Given the description of an element on the screen output the (x, y) to click on. 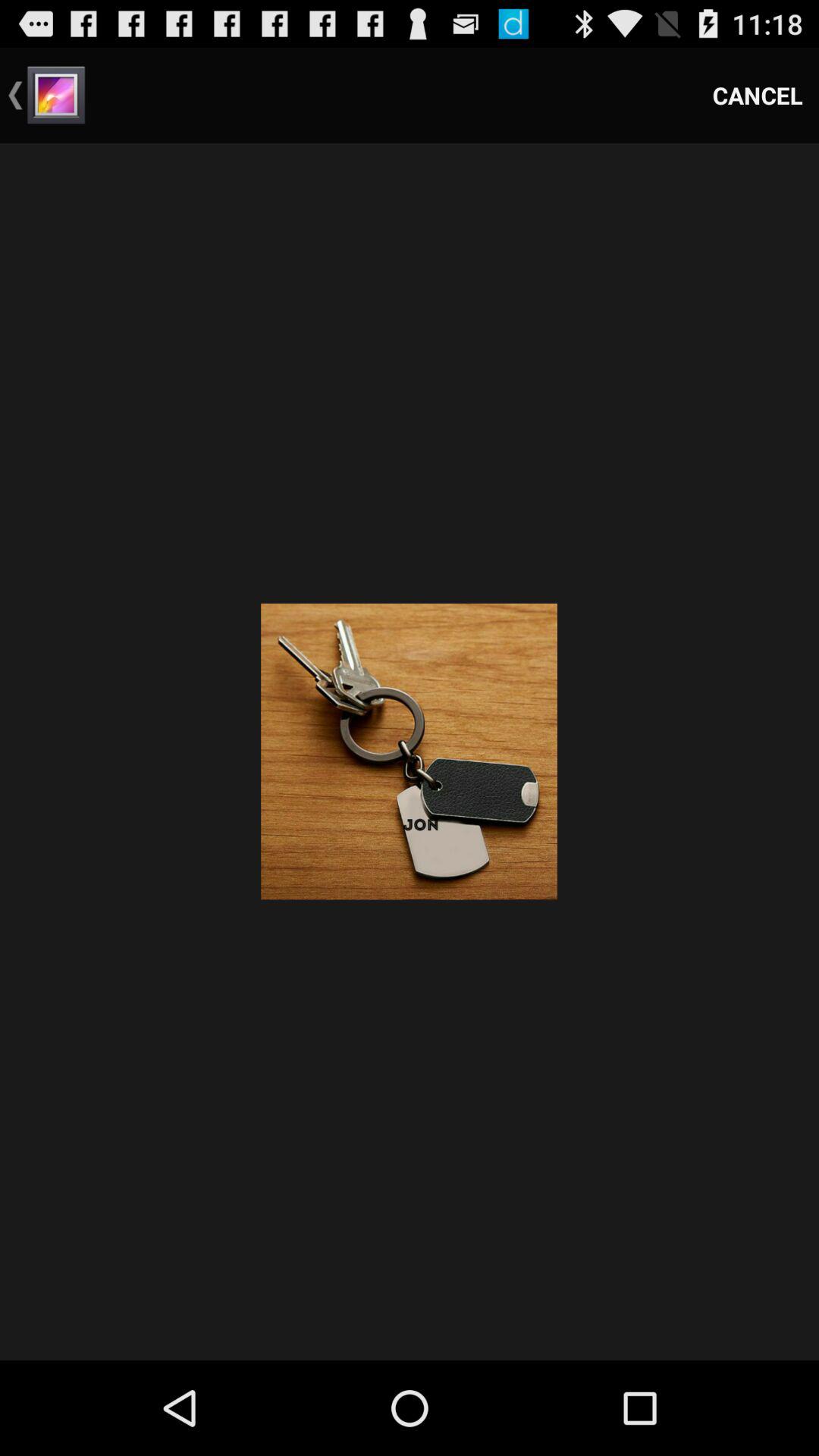
turn on the item at the top right corner (757, 95)
